Given the description of an element on the screen output the (x, y) to click on. 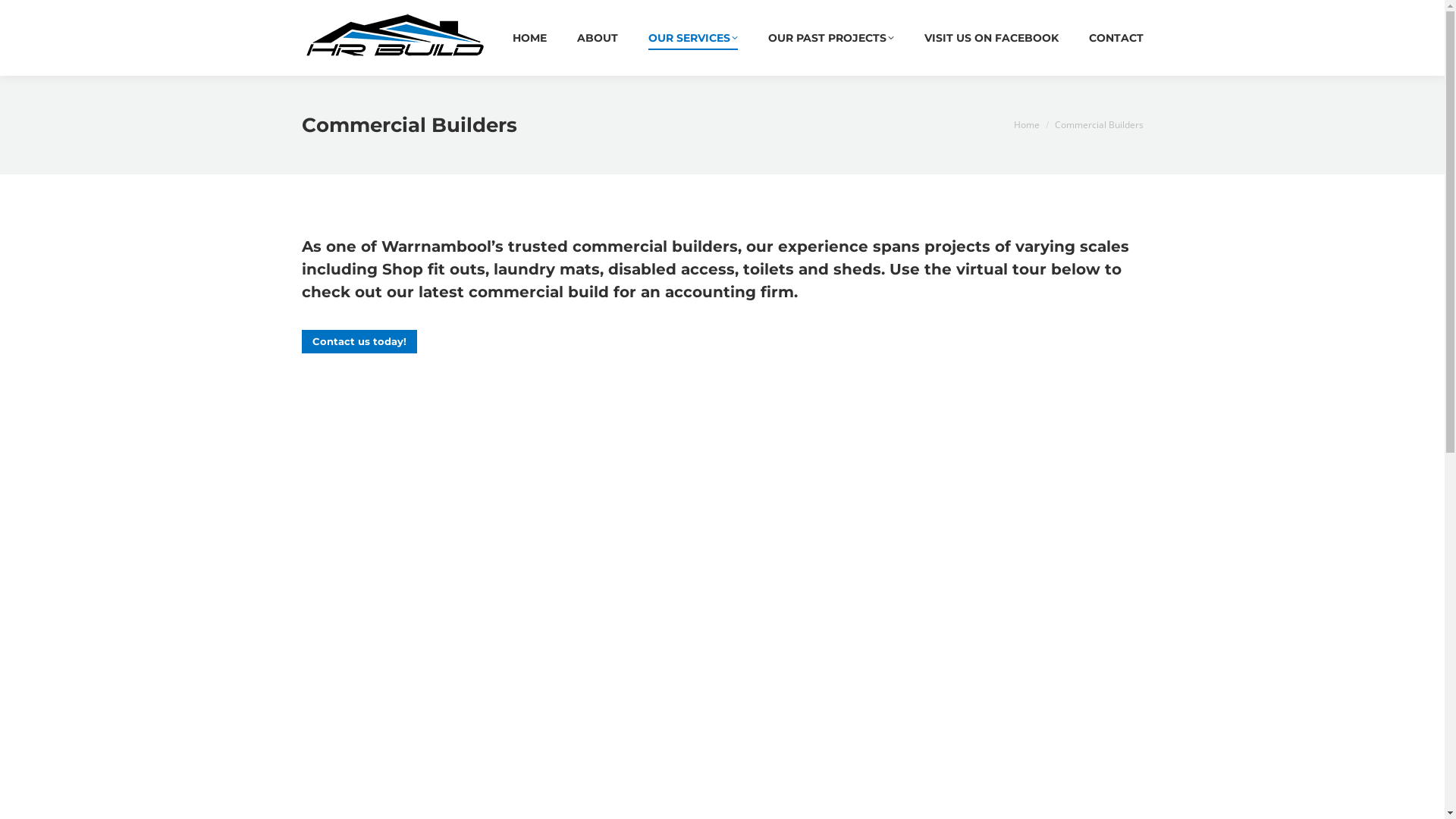
HOME Element type: text (529, 37)
Contact us today! Element type: text (359, 341)
Home Element type: text (1025, 124)
VISIT US ON FACEBOOK Element type: text (990, 37)
OUR PAST PROJECTS Element type: text (830, 37)
CONTACT Element type: text (1115, 37)
ABOUT Element type: text (596, 37)
OUR SERVICES Element type: text (692, 37)
